Given the description of an element on the screen output the (x, y) to click on. 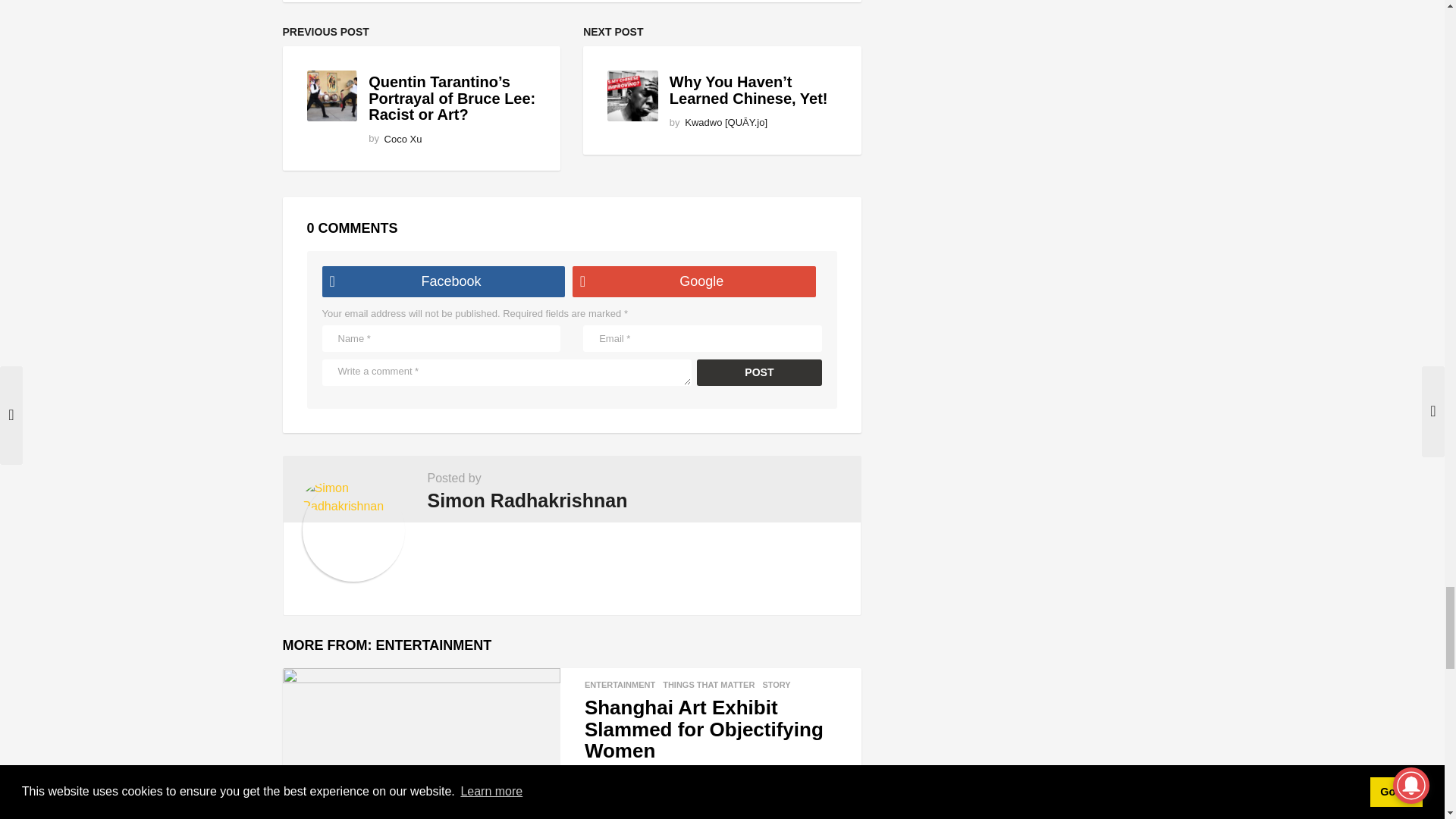
Post (759, 372)
Shanghai Art Exhibit Slammed for Objectifying Women (420, 737)
